Given the description of an element on the screen output the (x, y) to click on. 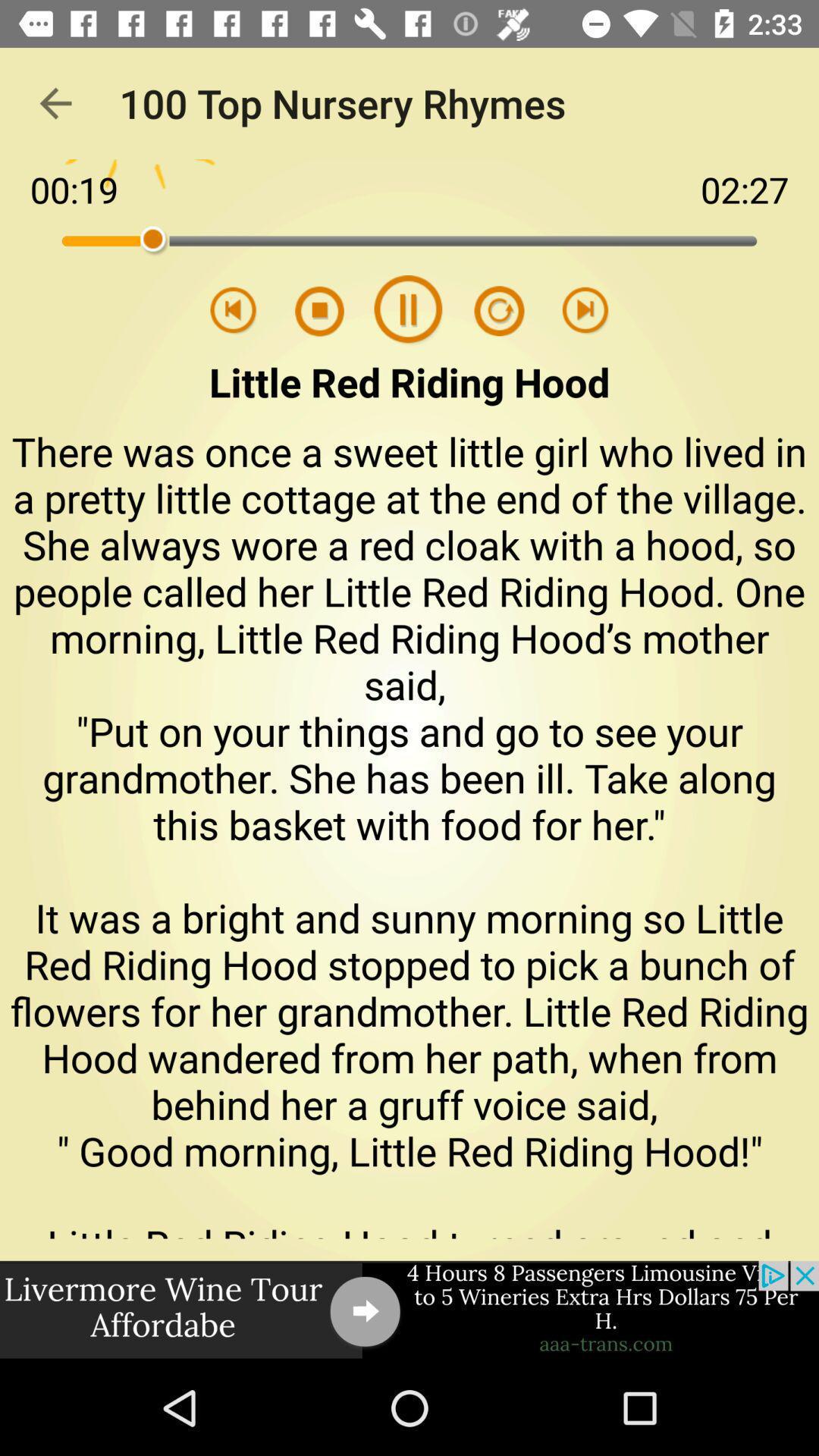
go back (233, 310)
